Given the description of an element on the screen output the (x, y) to click on. 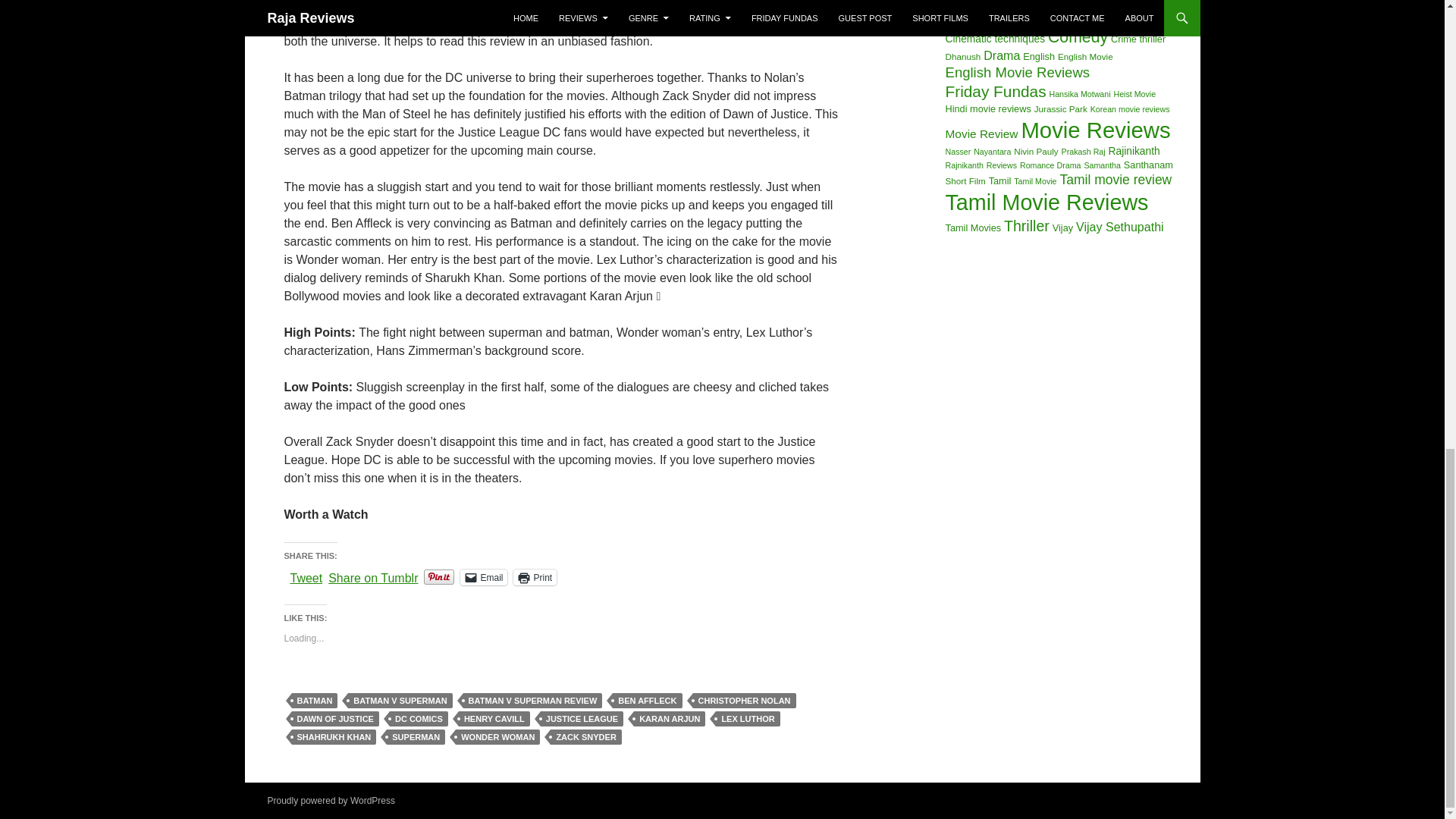
Share on Tumblr (373, 576)
Click to email a link to a friend (483, 577)
Click to print (534, 577)
